Given the description of an element on the screen output the (x, y) to click on. 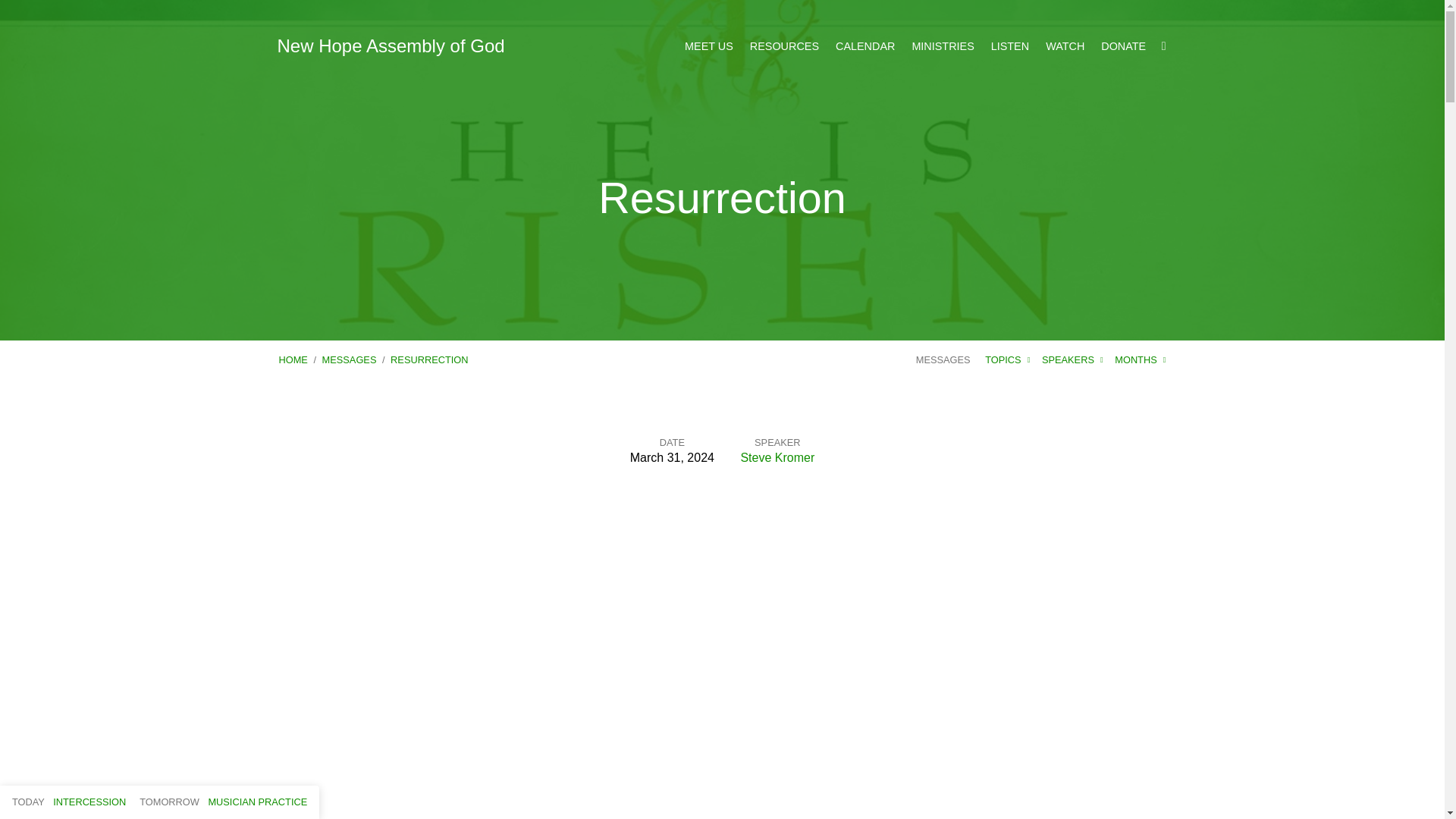
SPEAKERS (1072, 359)
MESSAGES (349, 359)
WATCH (1064, 45)
MONTHS (1140, 359)
HOME (293, 359)
DONATE (1122, 45)
New Hope Assembly of God (391, 46)
MESSAGES (943, 359)
TOPICS (1007, 359)
MINISTRIES (942, 45)
LISTEN (1010, 45)
RESOURCES (783, 45)
RESURRECTION (428, 359)
Steve Kromer (776, 457)
MEET US (708, 45)
